Given the description of an element on the screen output the (x, y) to click on. 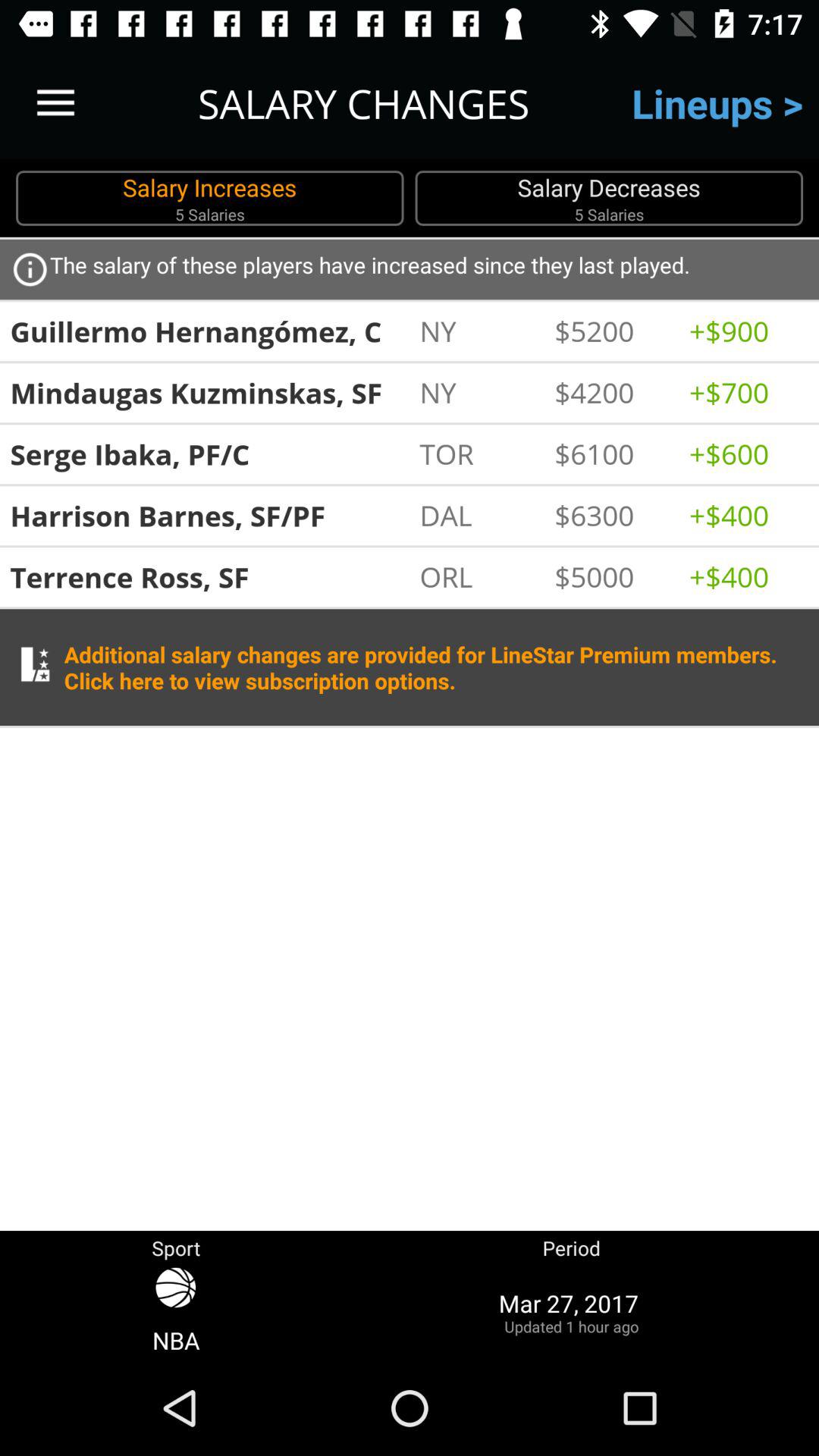
click item to the right of the salary changes icon (717, 103)
